Given the description of an element on the screen output the (x, y) to click on. 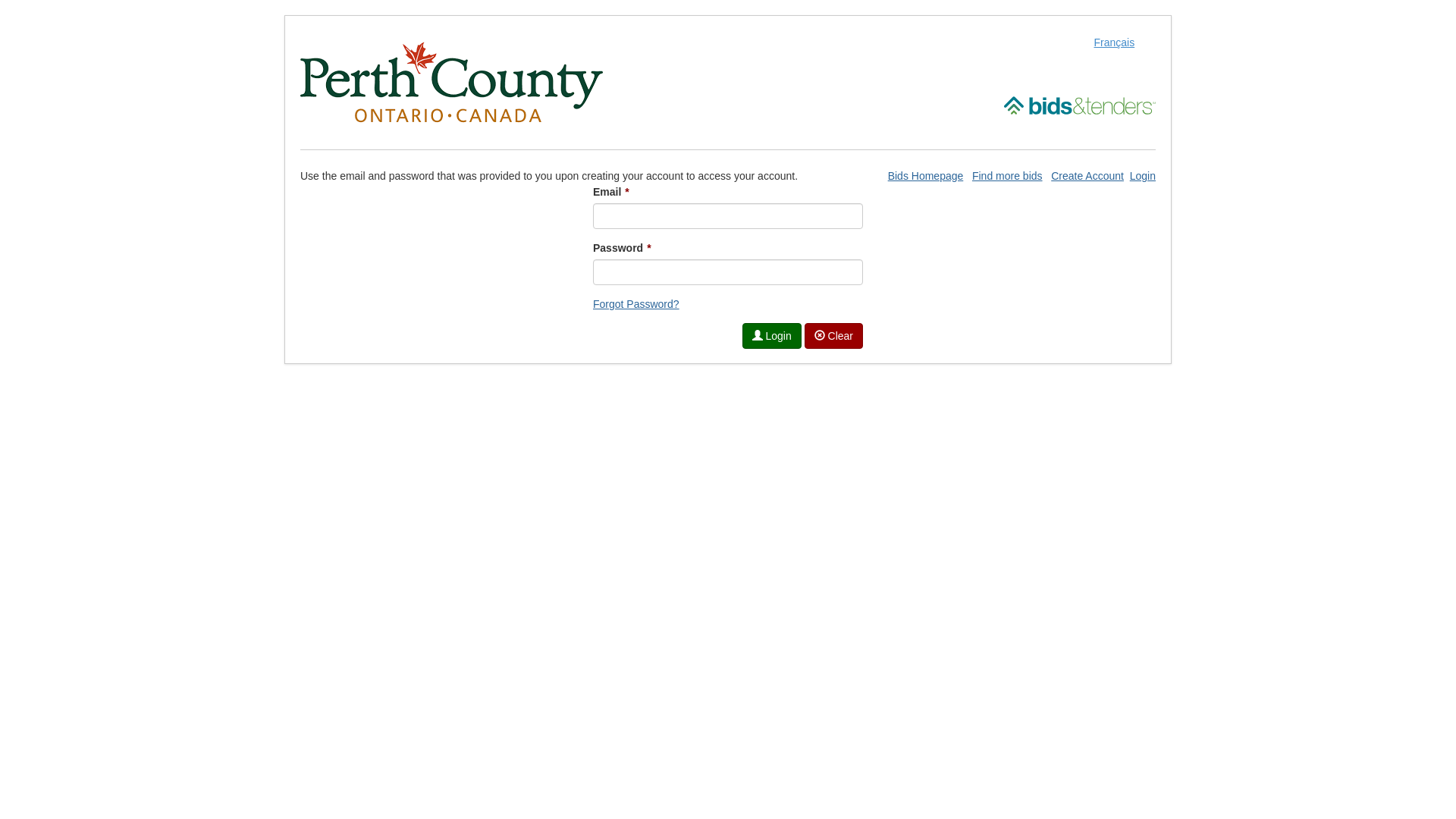
Find more bids Element type: text (1007, 175)
Skip to Content (Press Enter) Element type: text (0, 0)
Login Element type: text (1142, 175)
Open Perth County site in a new window Element type: hover (451, 81)
Open Bids and Tenders site in a new window Element type: hover (1079, 104)
 Login Element type: text (771, 335)
Forgot Password? Element type: text (636, 304)
Create Account Element type: text (1087, 175)
 Clear Element type: text (833, 335)
Bids Homepage Element type: text (925, 175)
